Given the description of an element on the screen output the (x, y) to click on. 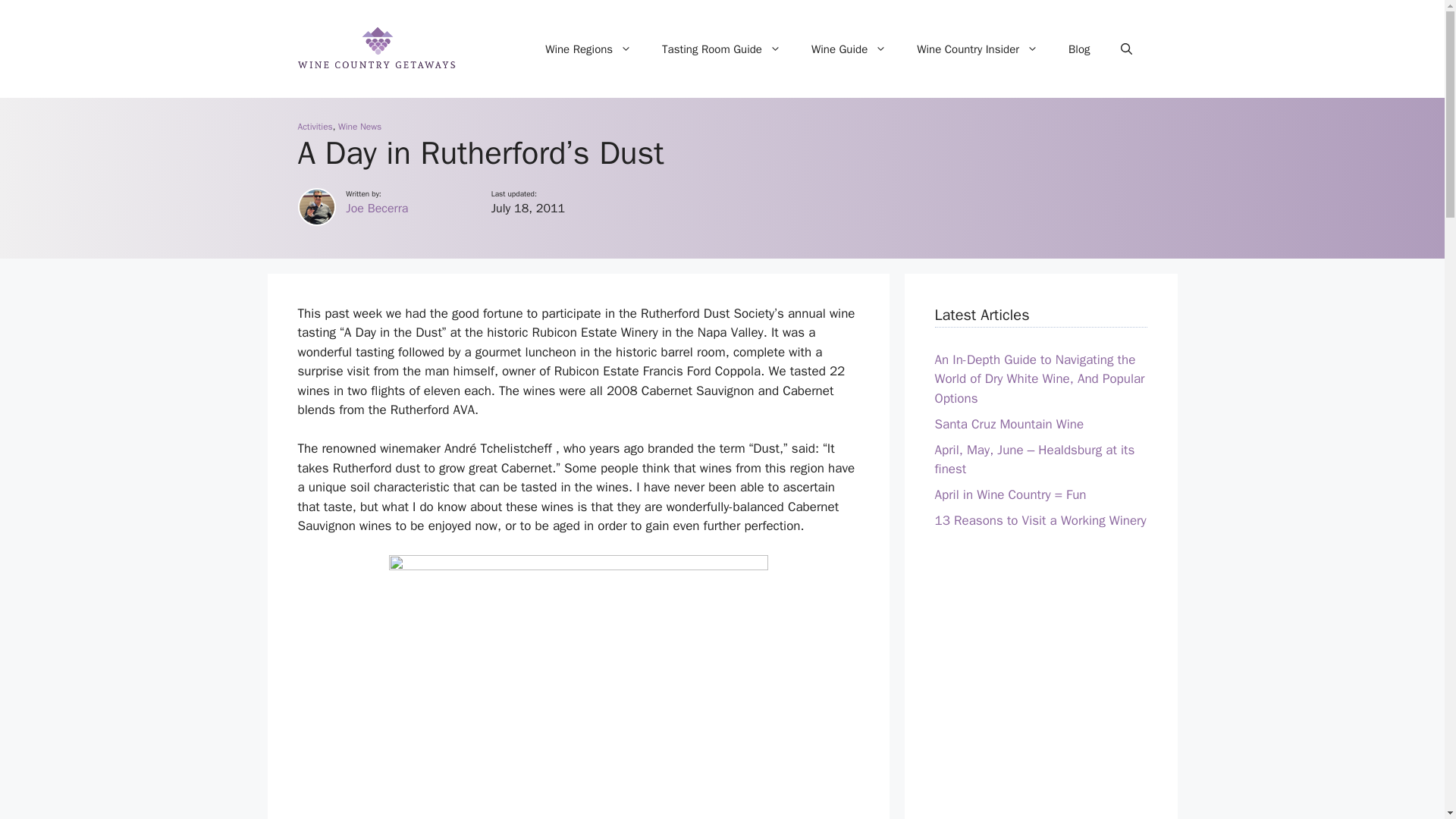
Rutherford-dust (577, 687)
Wine Regions (587, 49)
Wine Guide (848, 49)
Tasting Room Guide (721, 49)
